Given the description of an element on the screen output the (x, y) to click on. 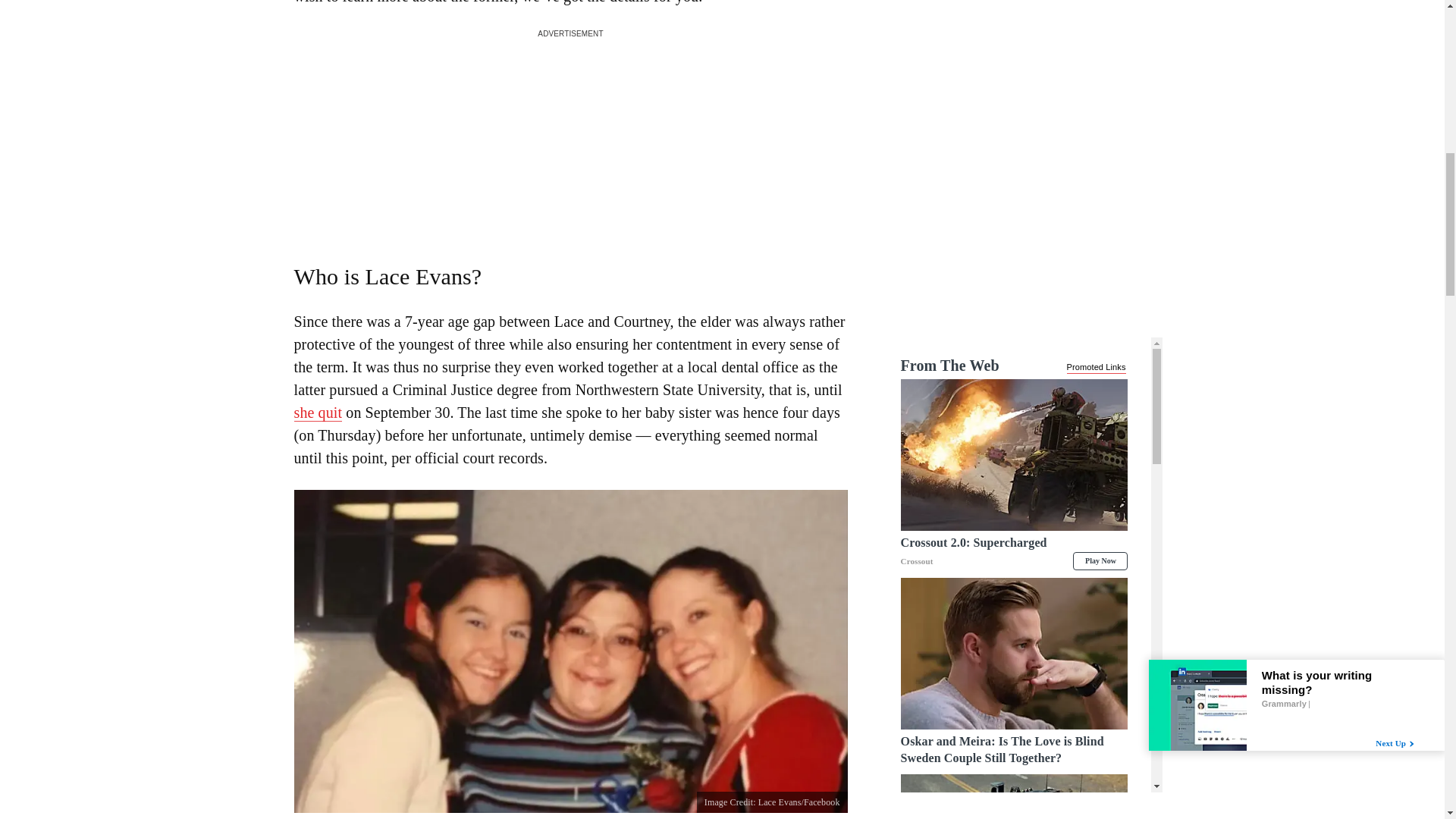
she quit (318, 412)
